Given the description of an element on the screen output the (x, y) to click on. 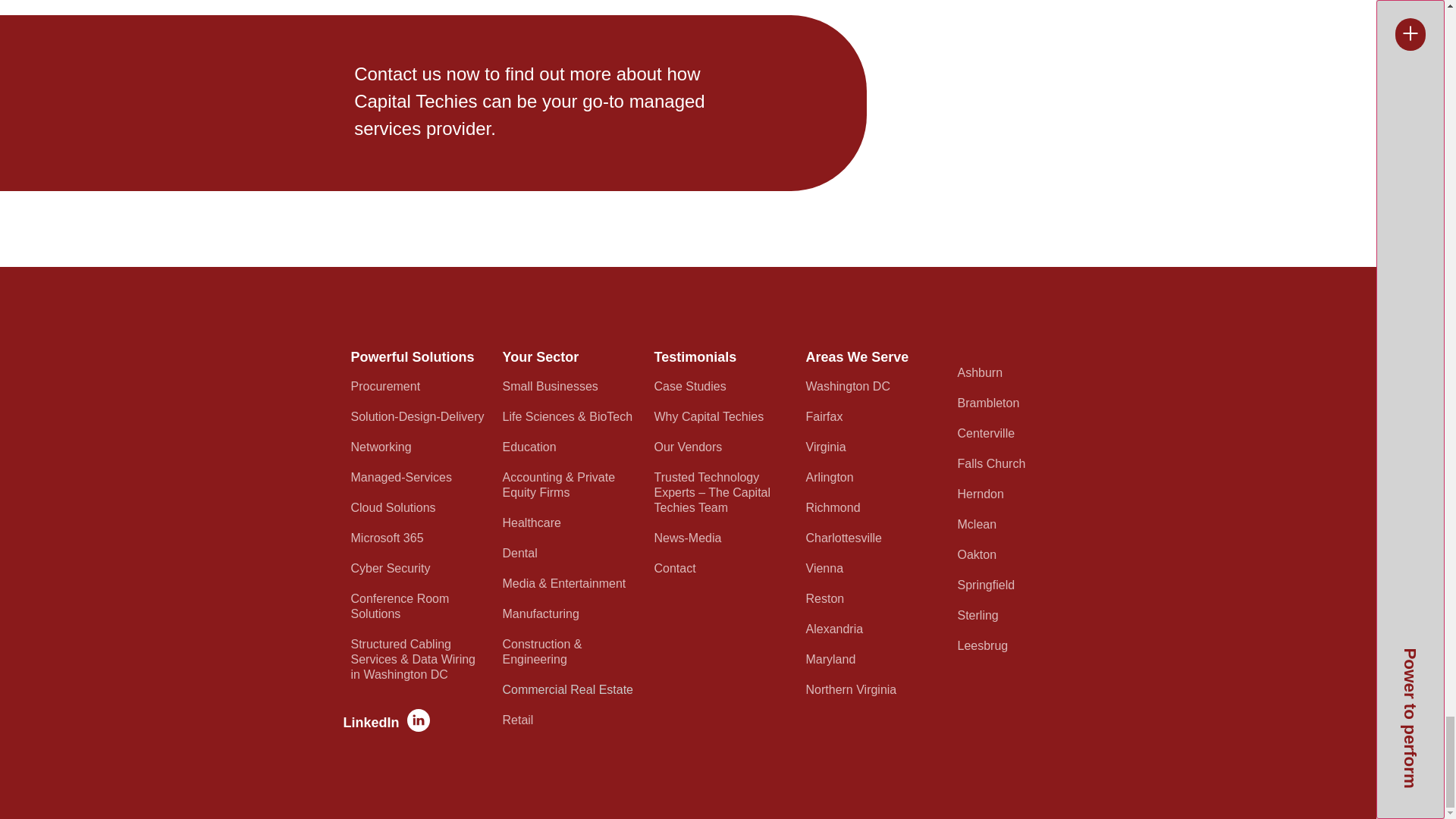
Networking (418, 447)
Cyber Security (418, 568)
Procurement (418, 386)
Solution-Design-Delivery (418, 417)
Microsoft 365 (418, 538)
Conference Room Solutions (418, 606)
Cloud Solutions (418, 508)
Managed-Services (418, 477)
